Given the description of an element on the screen output the (x, y) to click on. 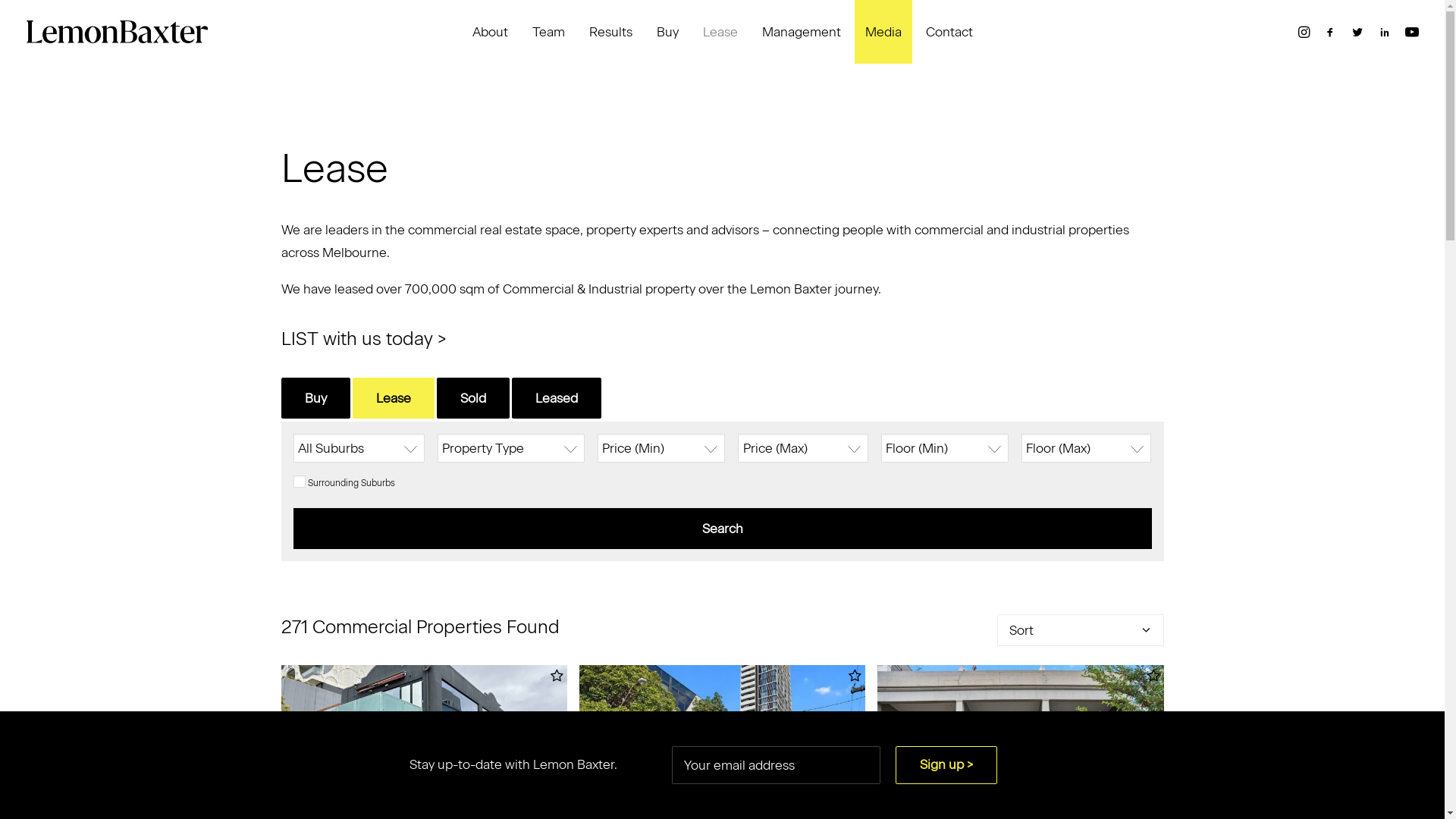
Lease Element type: text (719, 31)
Previous Element type: text (915, 754)
Previous Element type: text (617, 754)
Next Element type: text (1126, 754)
Search Element type: text (721, 528)
Management Element type: text (800, 31)
Results Element type: text (609, 31)
LIST with us today > Element type: text (362, 338)
Media Element type: text (882, 31)
Sign up > Element type: text (945, 765)
About Element type: text (489, 31)
Next Element type: text (529, 754)
Lease Element type: text (392, 397)
Sold Element type: text (472, 397)
Buy Element type: text (314, 397)
Contact Element type: text (948, 31)
Leased Element type: text (555, 397)
Next Element type: text (827, 754)
Buy Element type: text (667, 31)
Previous Element type: text (319, 754)
Team Element type: text (548, 31)
